Given the description of an element on the screen output the (x, y) to click on. 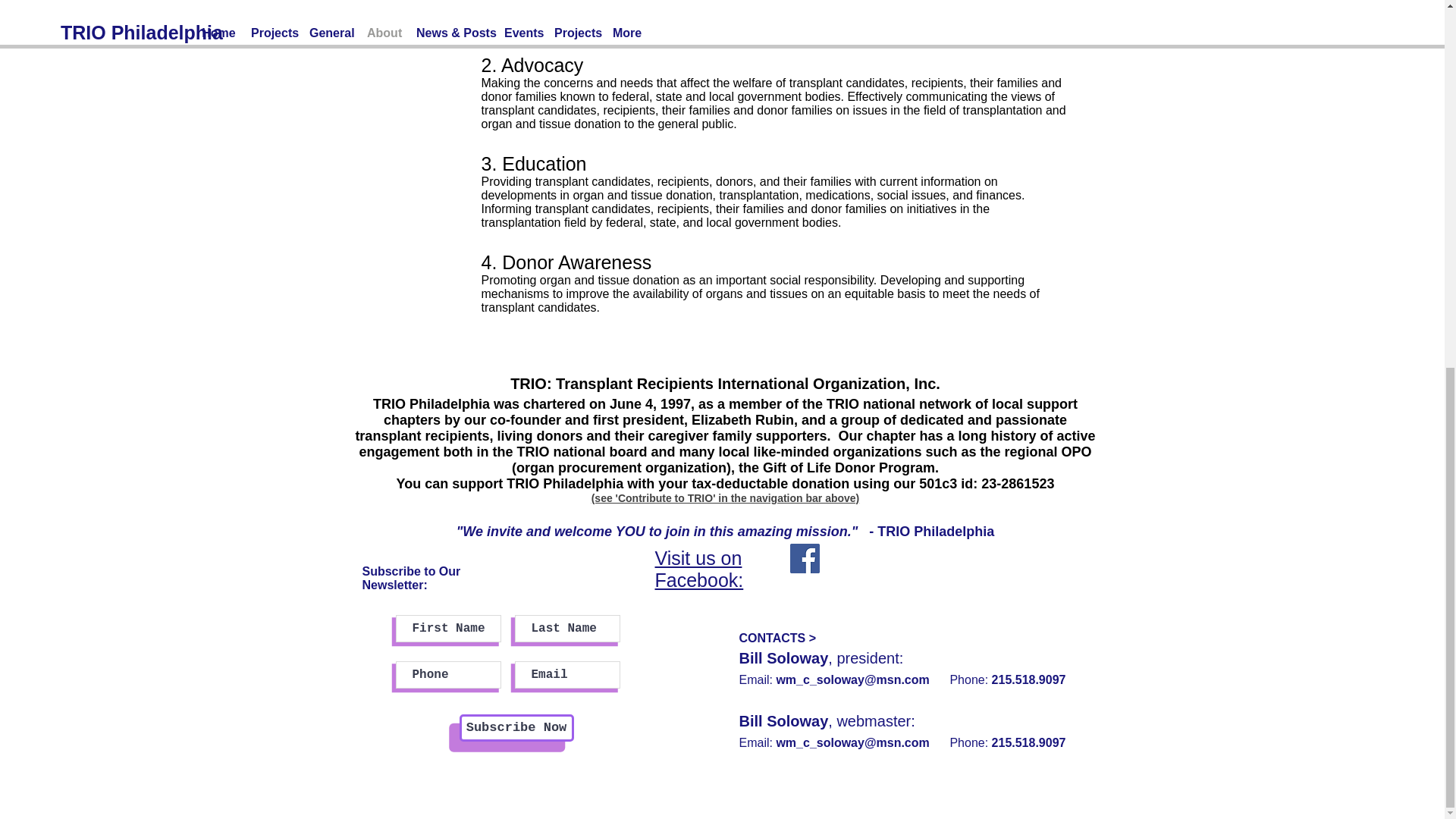
Visit us on Facebook: (699, 568)
Email: (757, 742)
Subscribe Now (516, 728)
